Given the description of an element on the screen output the (x, y) to click on. 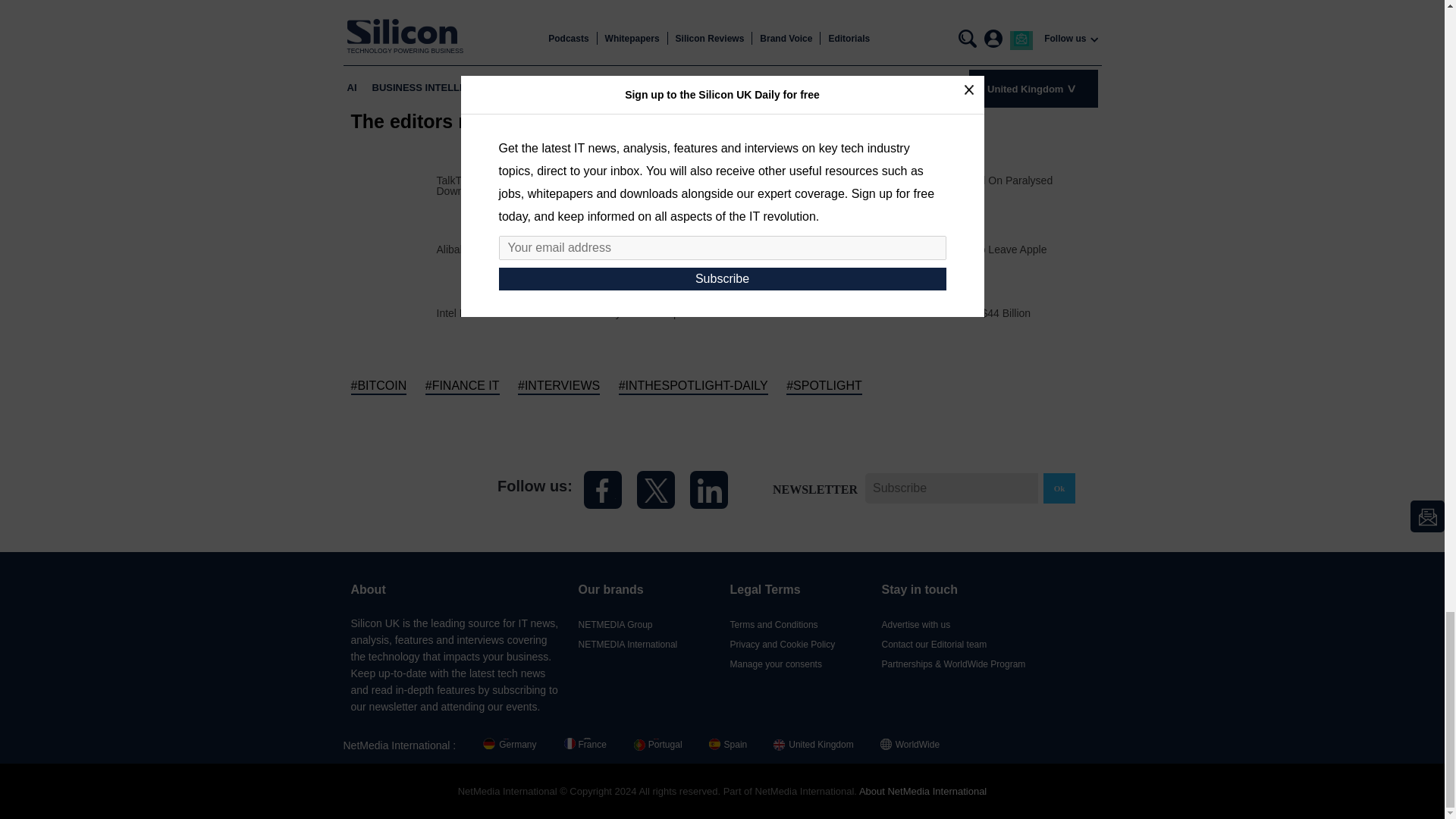
503663BitCoin: The Currency Of The Future? (393, 247)
531500BitCoin: The Currency Of The Future? (393, 184)
Alibaba Group To Split In Major Restructure (539, 249)
530419BitCoin: The Currency Of The Future? (764, 184)
Neuralink To Begin Brain Implant Trial On Paralysed Patients (951, 185)
481896BitCoin: The Currency Of The Future? (764, 247)
